Given the description of an element on the screen output the (x, y) to click on. 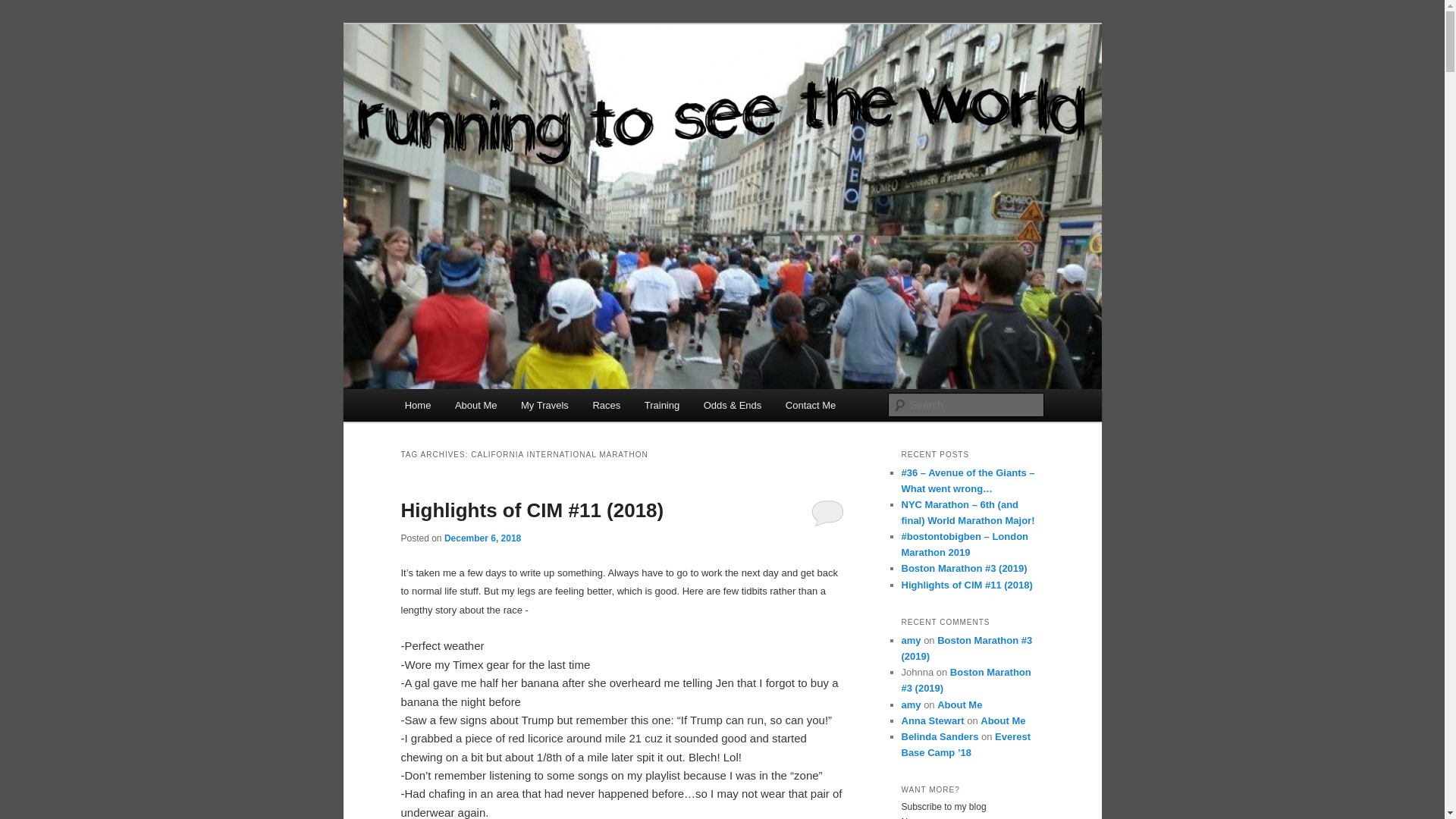
Races (605, 405)
Skip to primary content (472, 407)
Training (661, 405)
Contact Me (810, 405)
December 6, 2018 (482, 537)
Skip to secondary content (479, 407)
Home (417, 405)
About Me (475, 405)
My Travels (543, 405)
Skip to secondary content (479, 407)
